Given the description of an element on the screen output the (x, y) to click on. 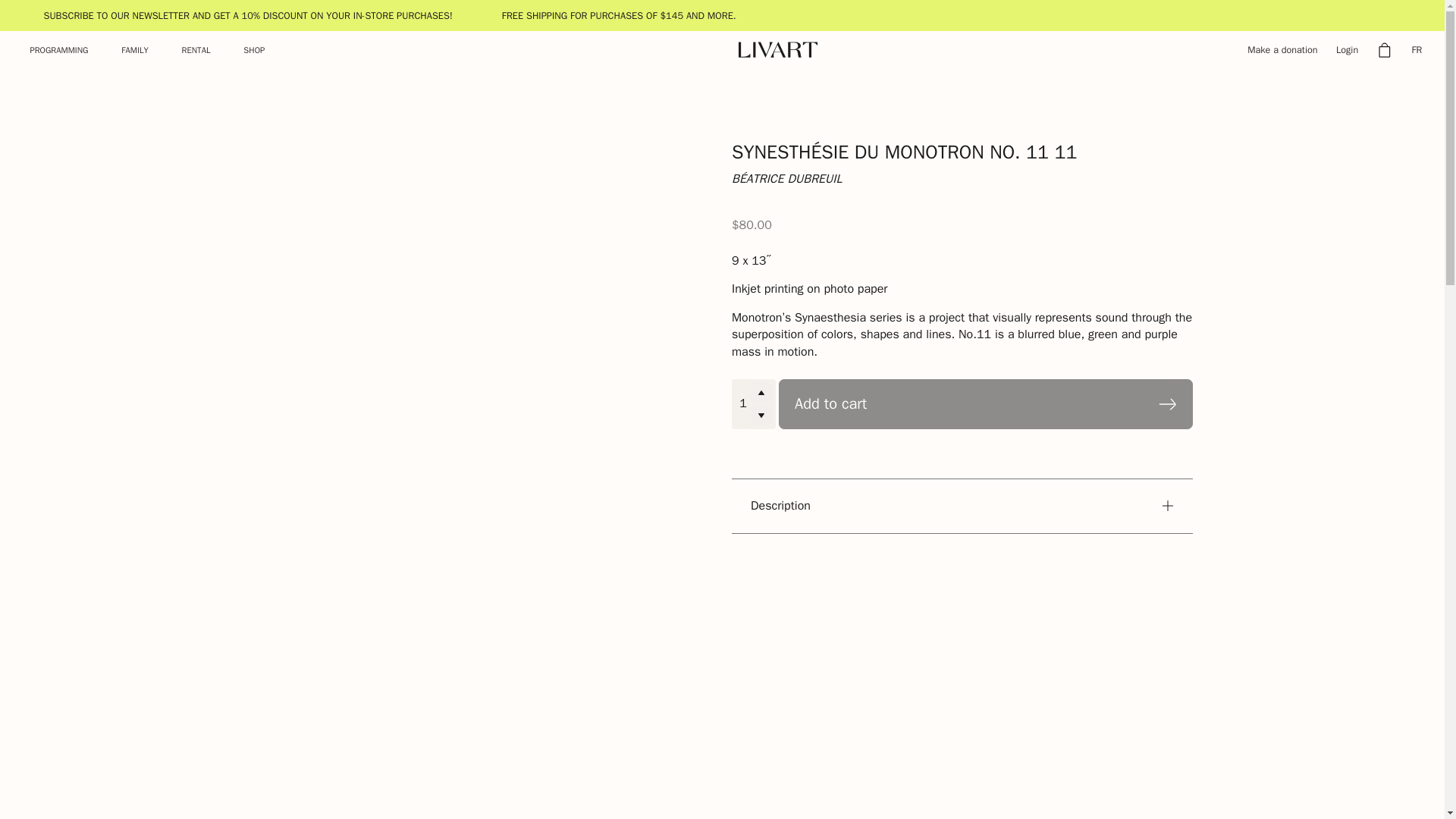
FR (1417, 50)
Description (962, 506)
Login (1347, 50)
Add to cart (985, 404)
Make a donation (1282, 50)
items in cart (1385, 49)
